Given the description of an element on the screen output the (x, y) to click on. 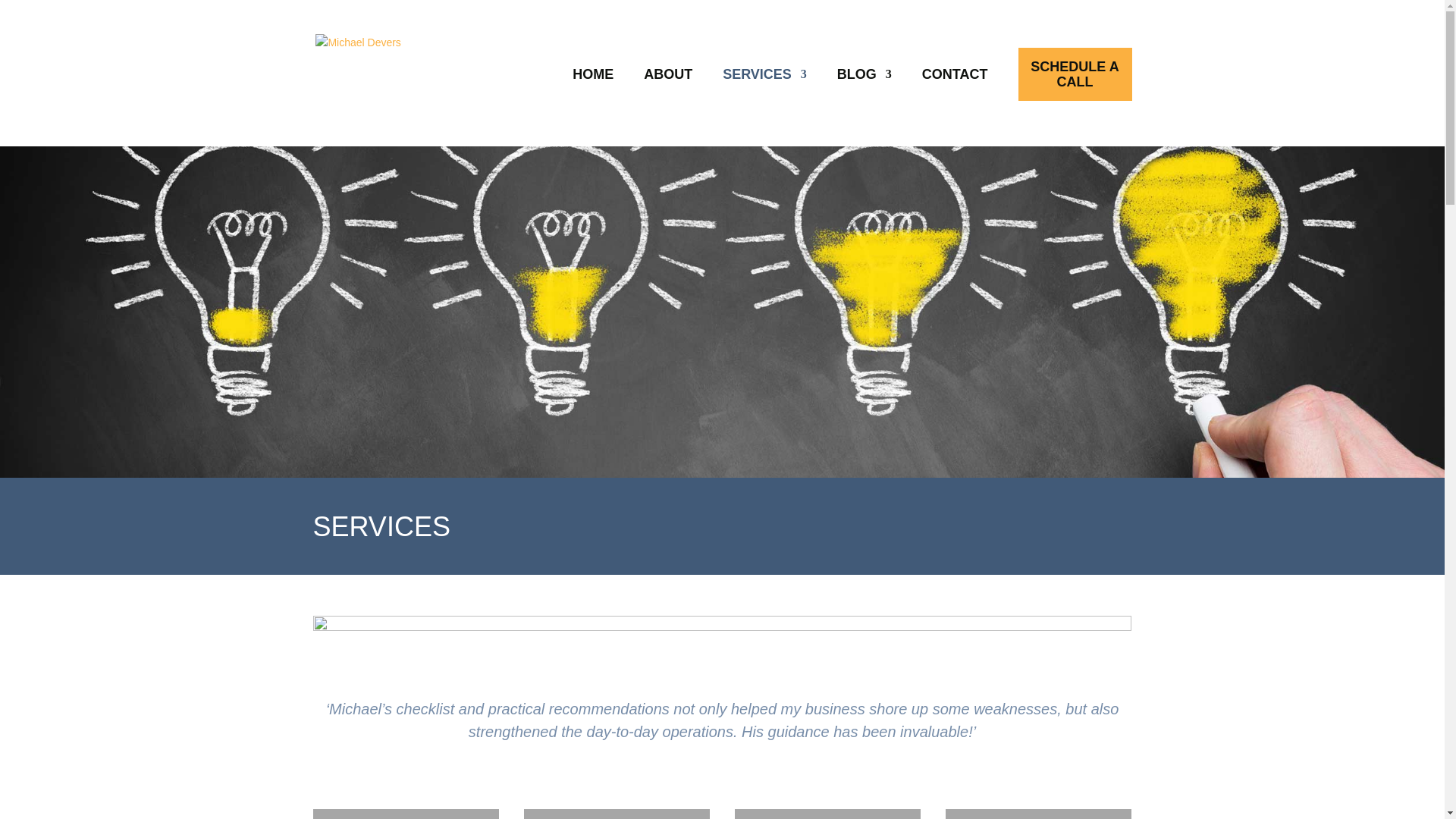
SERVICES (764, 73)
SCHEDULE A CALL (1075, 73)
ABOUT (668, 73)
CONTACT (954, 73)
BLOG (864, 73)
HOME (592, 73)
